Given the description of an element on the screen output the (x, y) to click on. 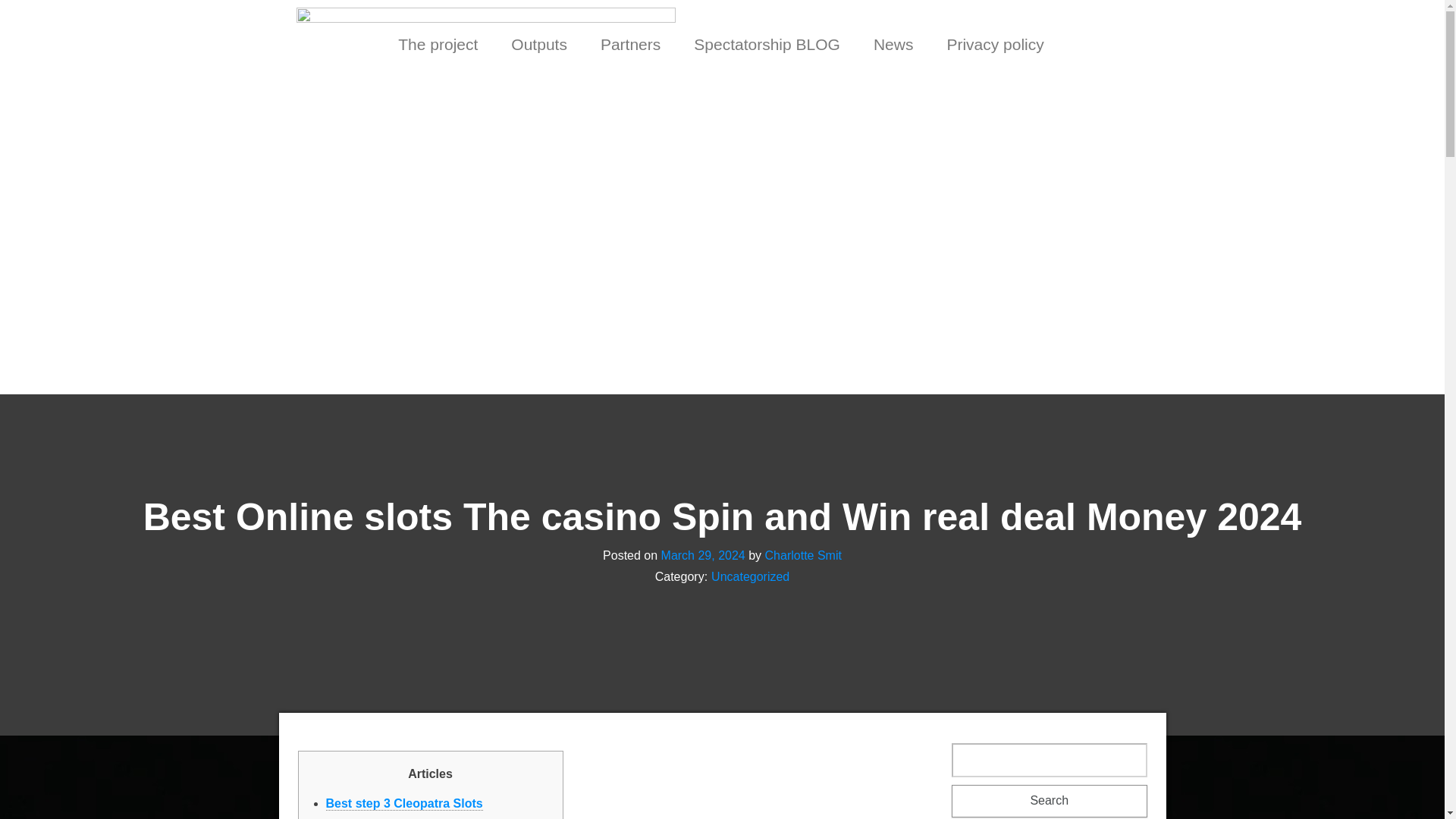
The project (437, 44)
Privacy policy (994, 44)
March 29, 2024 (703, 554)
Partners (630, 44)
Uncategorized (750, 576)
Outputs (539, 44)
Spectatorship BLOG (767, 44)
Charlotte Smit (803, 554)
Best step 3 Cleopatra Slots (404, 803)
Search (1049, 800)
